Given the description of an element on the screen output the (x, y) to click on. 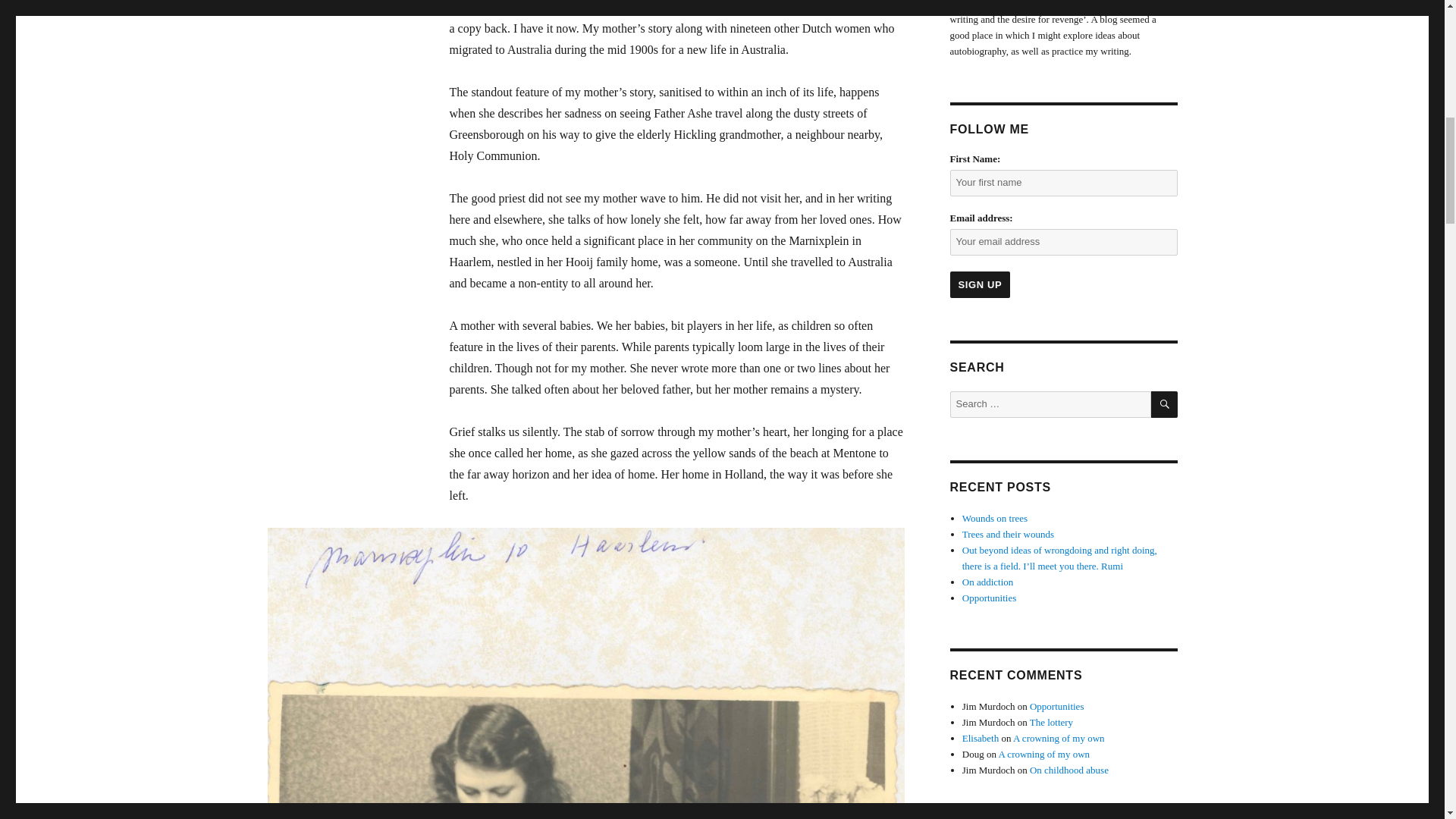
On addiction (987, 582)
SEARCH (1164, 404)
Wounds on trees (994, 518)
The lottery (1051, 722)
Opportunities (989, 597)
Trees and their wounds (1008, 533)
Elisabeth (980, 737)
Opportunities (1056, 706)
Sign up (979, 284)
Sign up (979, 284)
